Given the description of an element on the screen output the (x, y) to click on. 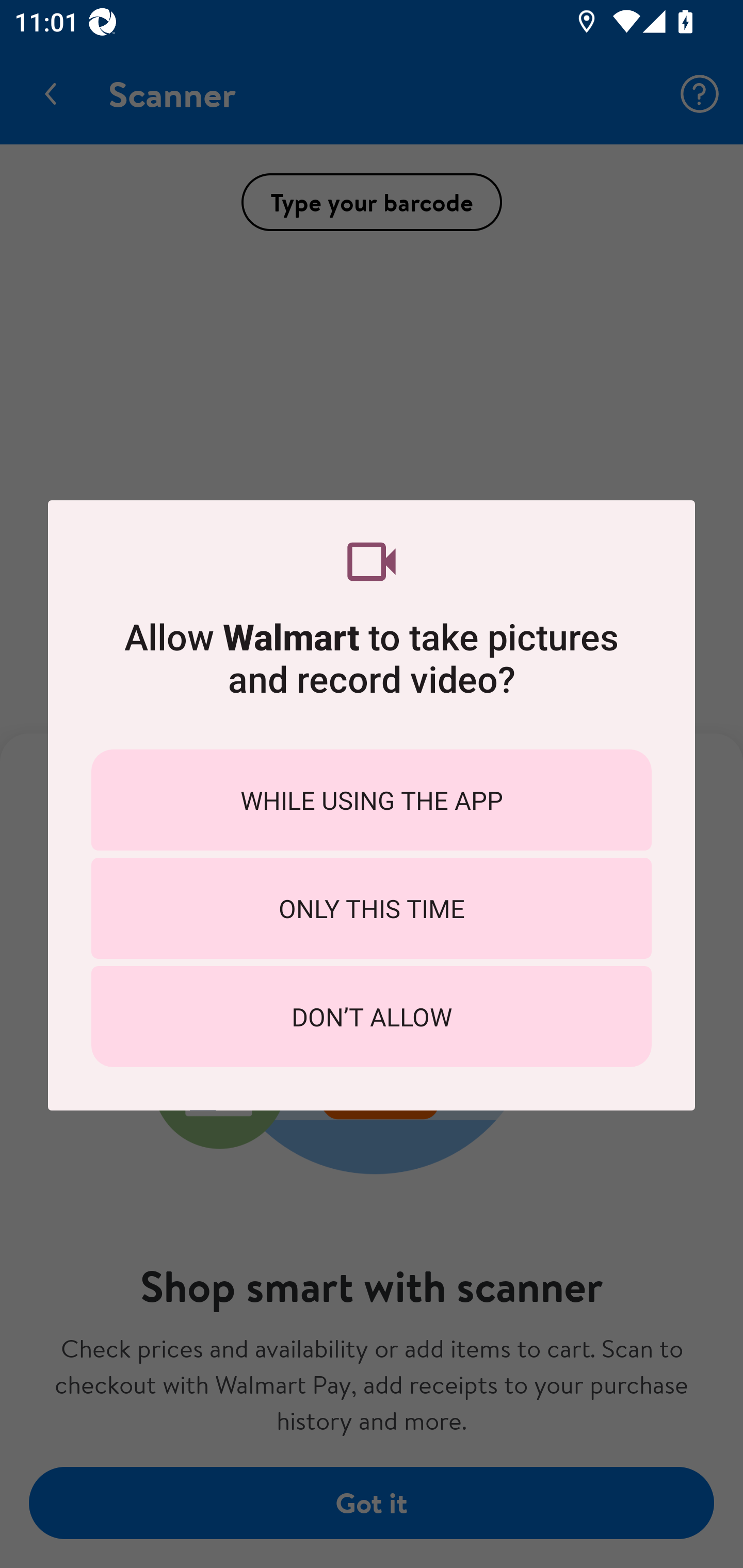
WHILE USING THE APP (371, 799)
ONLY THIS TIME (371, 908)
DON’T ALLOW (371, 1016)
